Given the description of an element on the screen output the (x, y) to click on. 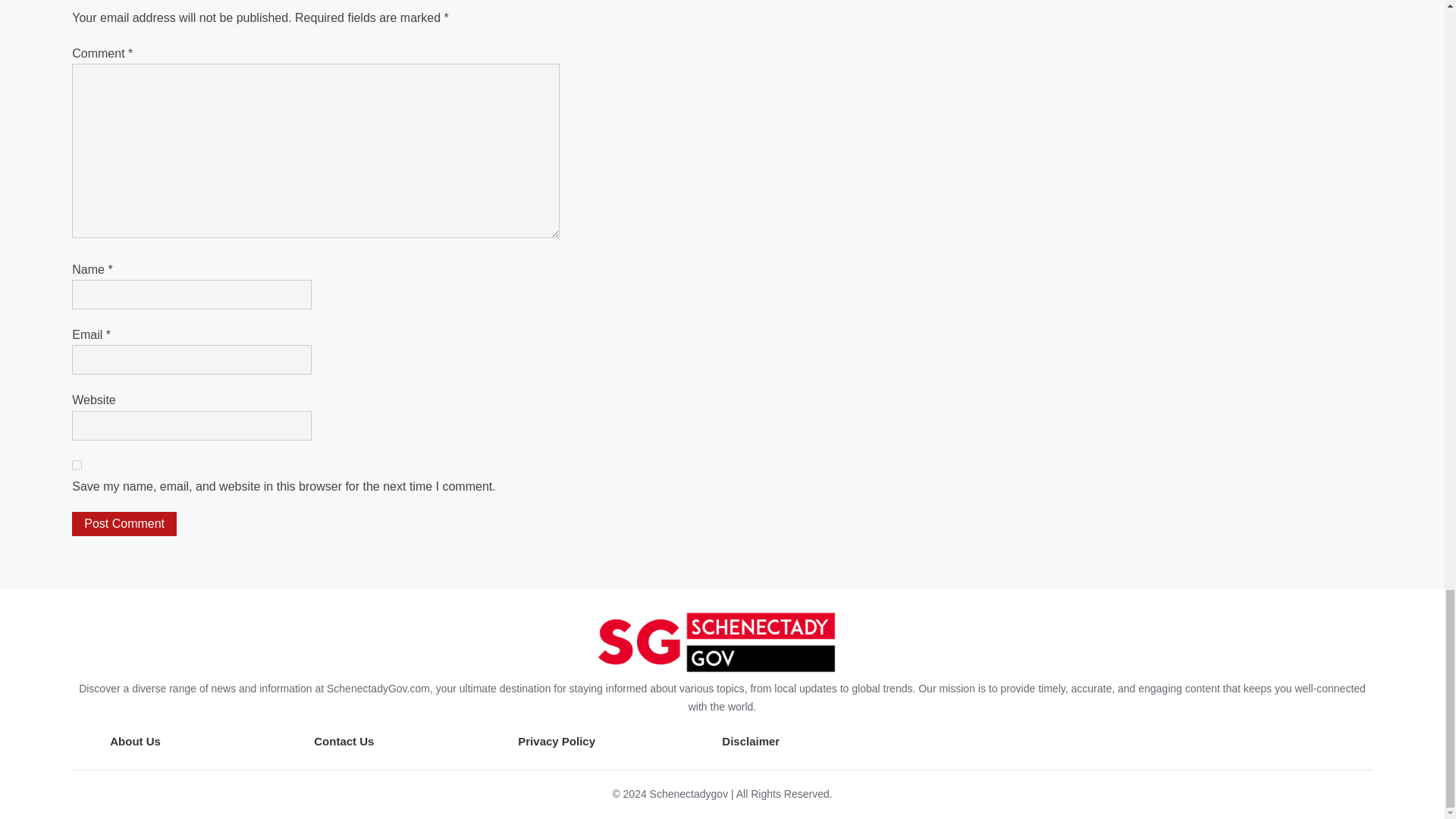
Post Comment (123, 523)
Post Comment (123, 523)
yes (76, 465)
